Given the description of an element on the screen output the (x, y) to click on. 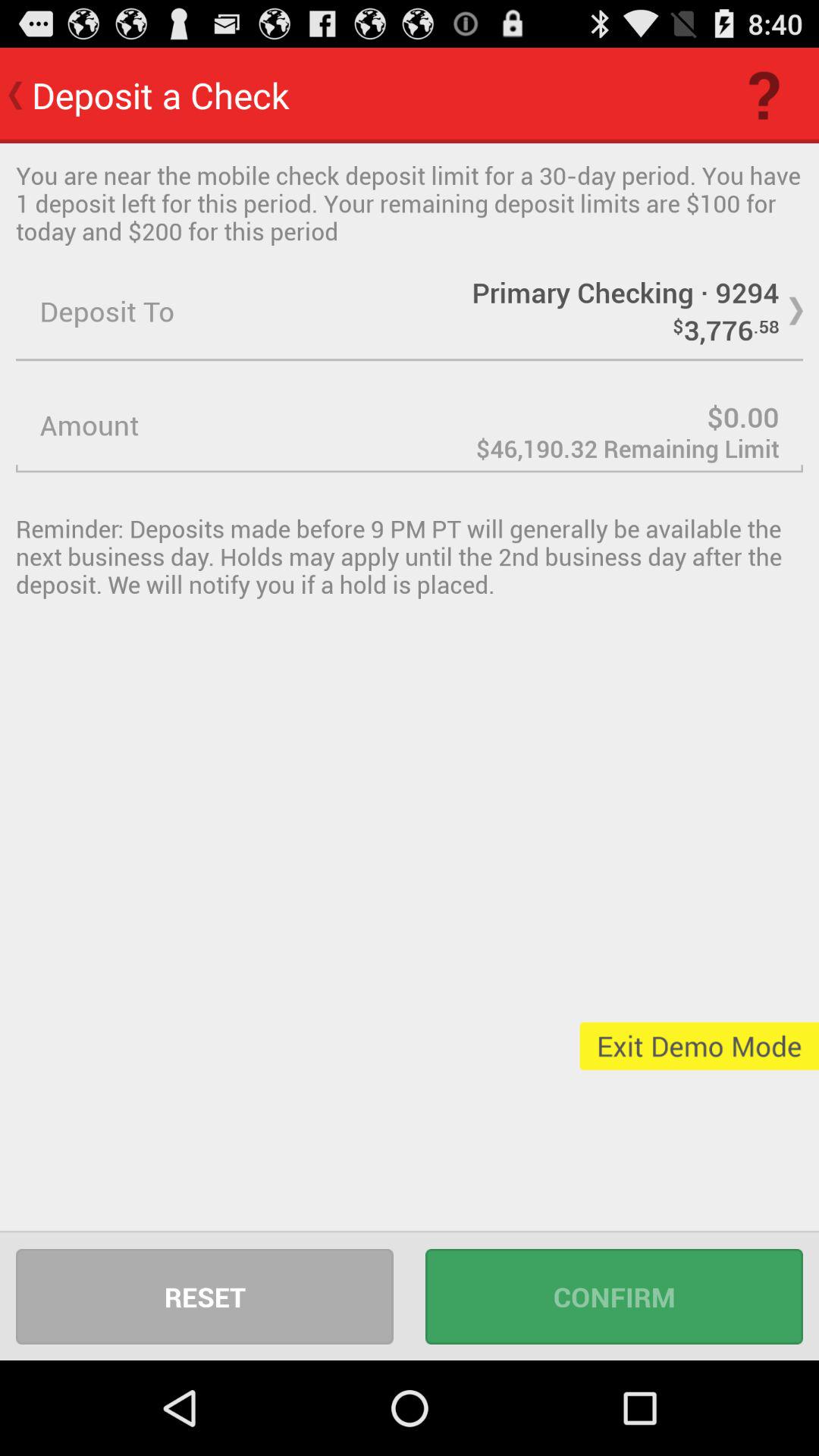
press the item to the right of the reset icon (614, 1296)
